Given the description of an element on the screen output the (x, y) to click on. 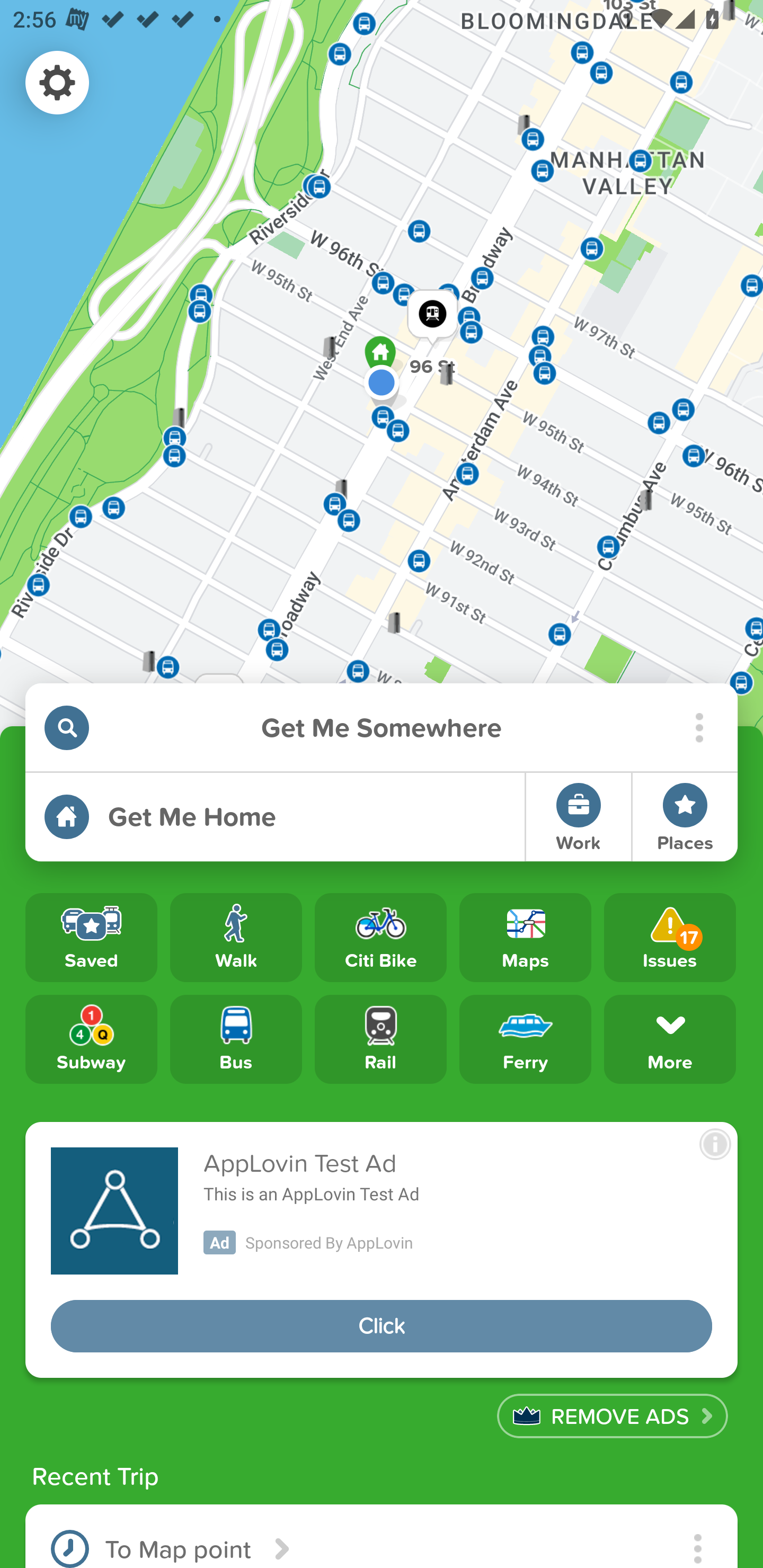
Work (578, 816)
